Given the description of an element on the screen output the (x, y) to click on. 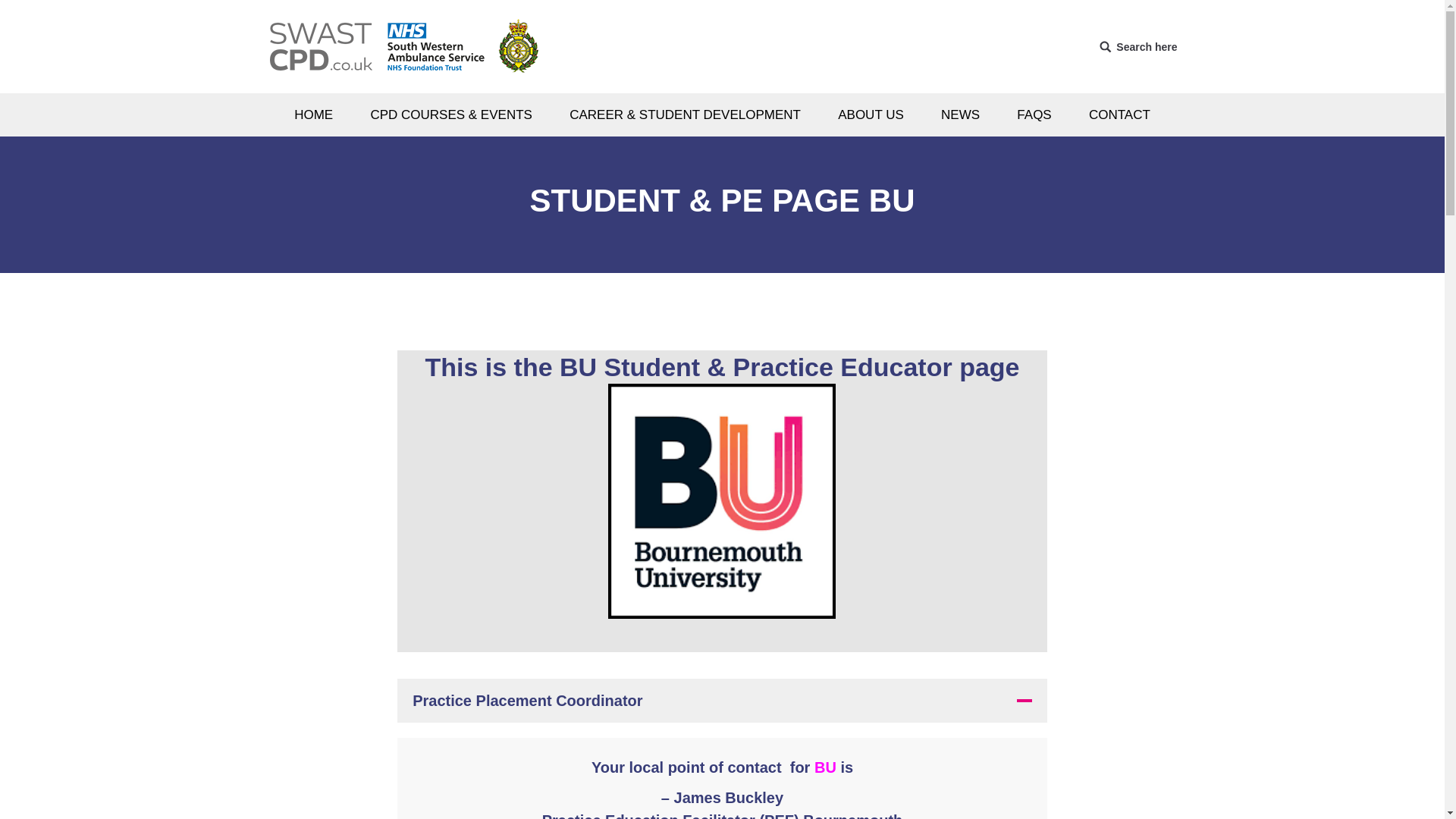
Go! (23, 14)
HOME (313, 114)
Search here (1137, 46)
